Given the description of an element on the screen output the (x, y) to click on. 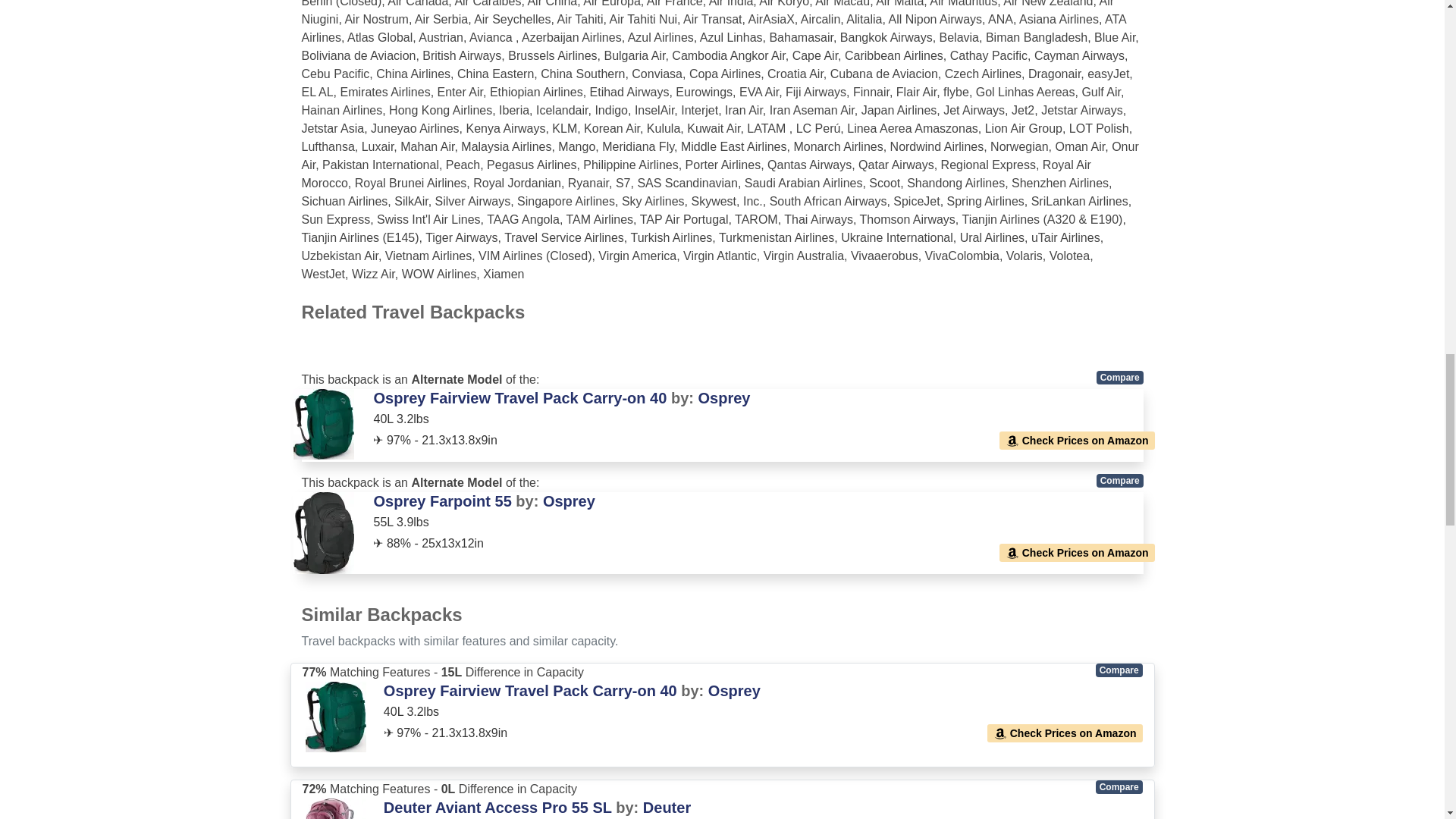
Osprey Fairview Travel Pack Carry-on 40 (519, 397)
Compare (1119, 480)
Osprey (723, 397)
Check Prices on Amazon (1076, 552)
Osprey Fairview Travel Pack Carry-on 40 (530, 690)
Check Prices on Amazon (1064, 732)
Osprey Farpoint 55 (441, 501)
Compare (1119, 786)
Check Prices on Amazon (1076, 440)
Deuter Aviant Access Pro 55 SL (497, 807)
Deuter (666, 807)
Compare (1119, 377)
Osprey (733, 690)
Compare (1119, 670)
Osprey (569, 501)
